Given the description of an element on the screen output the (x, y) to click on. 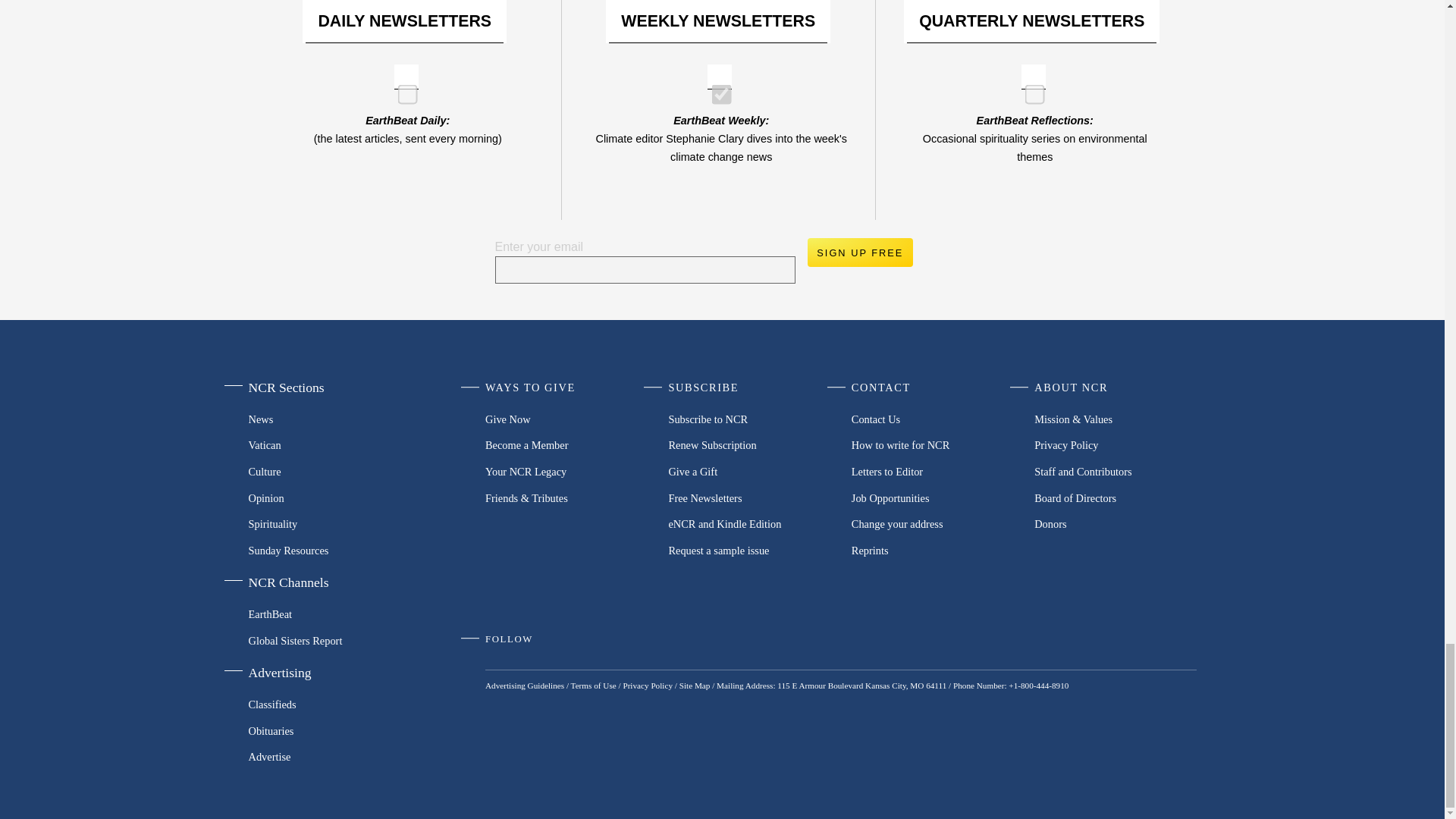
ef6500f2d3 (715, 90)
Change your address (932, 524)
How to write for NCR (932, 445)
efa1b974a2 (402, 90)
Advertise with NCR (324, 756)
Request a reprint of NCR content (932, 550)
Request a sample issue of NCR (748, 550)
Donors (1114, 524)
bcf567f831 (1030, 90)
Sign up free (859, 252)
